Given the description of an element on the screen output the (x, y) to click on. 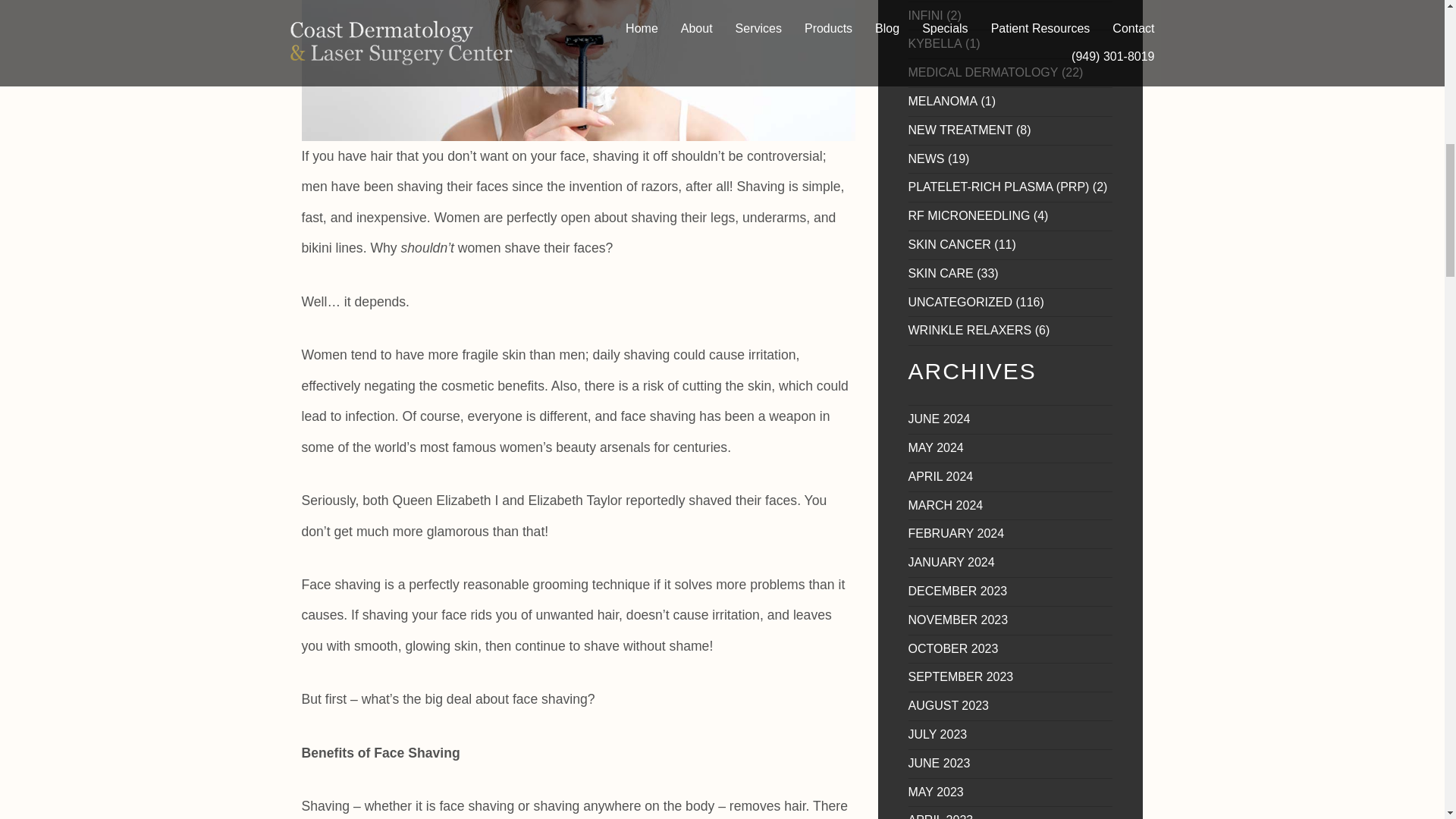
MELANOMA (943, 101)
INFINI (925, 15)
KYBELLA (935, 42)
MEDICAL DERMATOLOGY (983, 72)
NEW TREATMENT (960, 129)
